Given the description of an element on the screen output the (x, y) to click on. 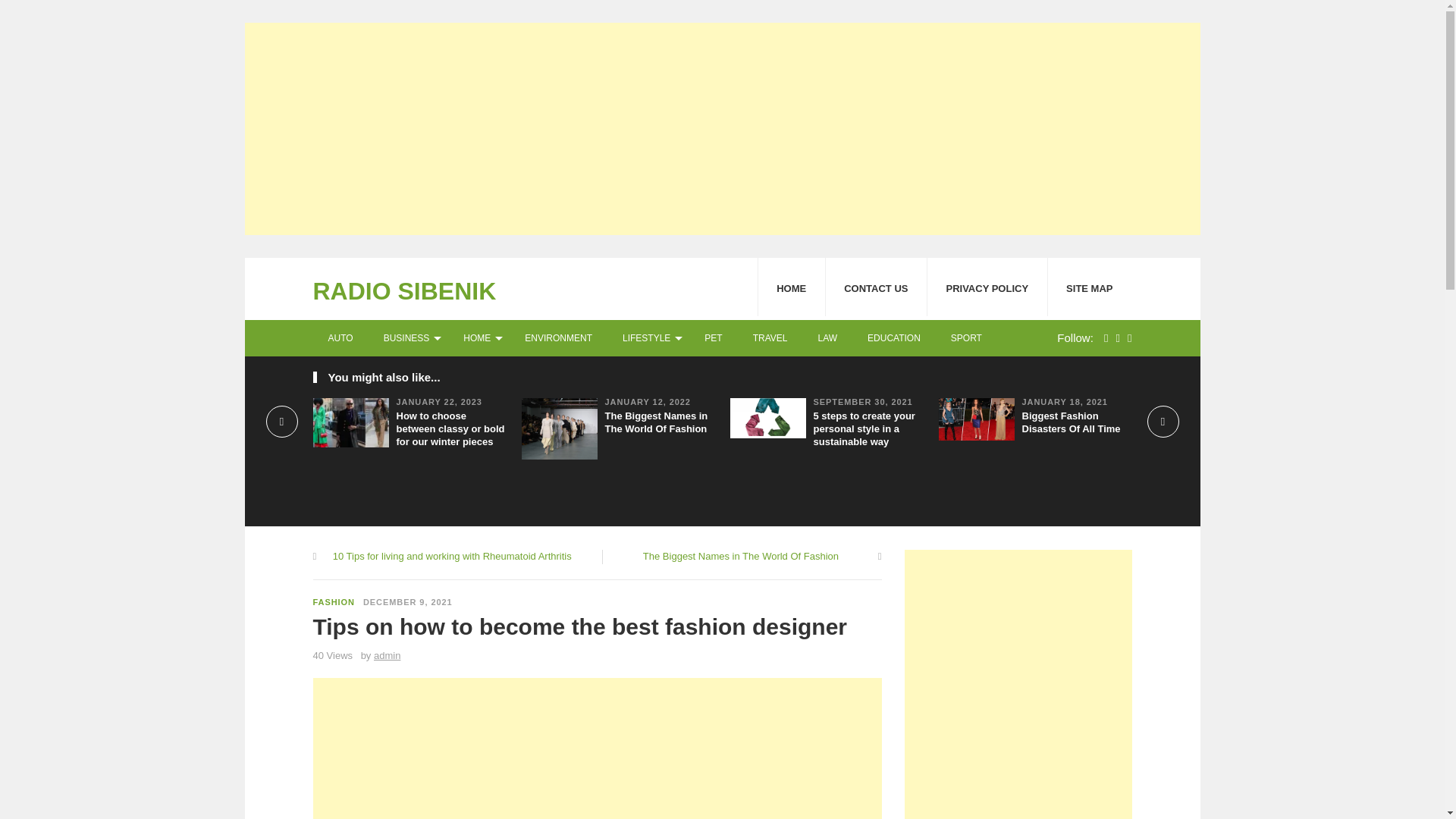
How to choose between classy or bold for our winter pieces (449, 428)
AUTO (340, 338)
CONTACT US (875, 286)
Advertisement (596, 748)
LIFESTYLE (647, 338)
EDUCATION (893, 338)
LAW (826, 338)
RADIO SIBENIK (404, 290)
BUSINESS (408, 338)
HOME (478, 338)
TRAVEL (770, 338)
The Biggest Names in The World Of Fashion  (657, 422)
5 steps to create your personal style in a sustainable way (863, 428)
PET (712, 338)
HOME (791, 286)
